Given the description of an element on the screen output the (x, y) to click on. 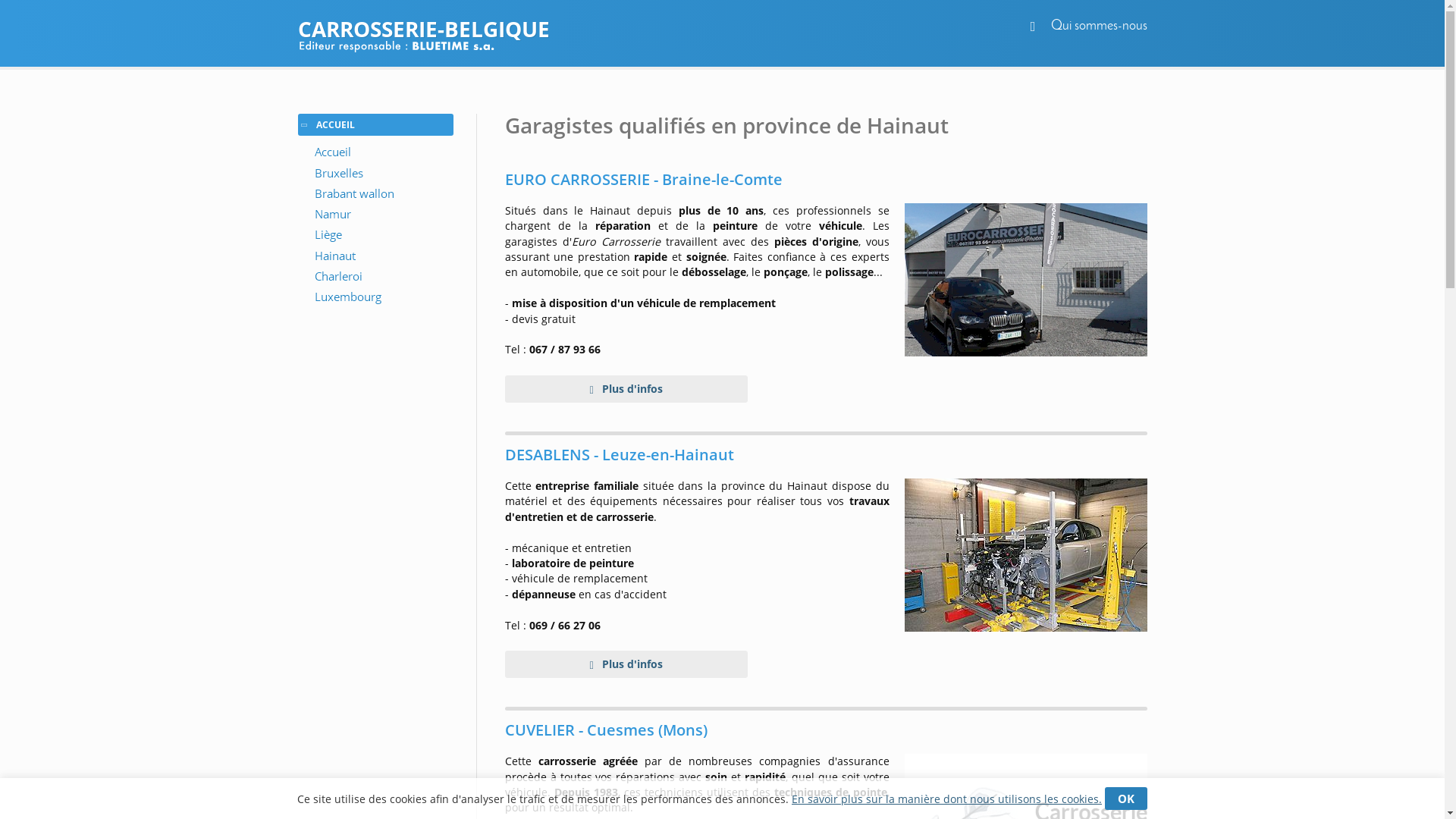
Plus d'infos Element type: text (626, 663)
CARROSSERIE-BELGIQUE Element type: text (721, 28)
Qui sommes-nous Element type: text (1099, 25)
Plus d'infos Element type: text (626, 388)
